Given the description of an element on the screen output the (x, y) to click on. 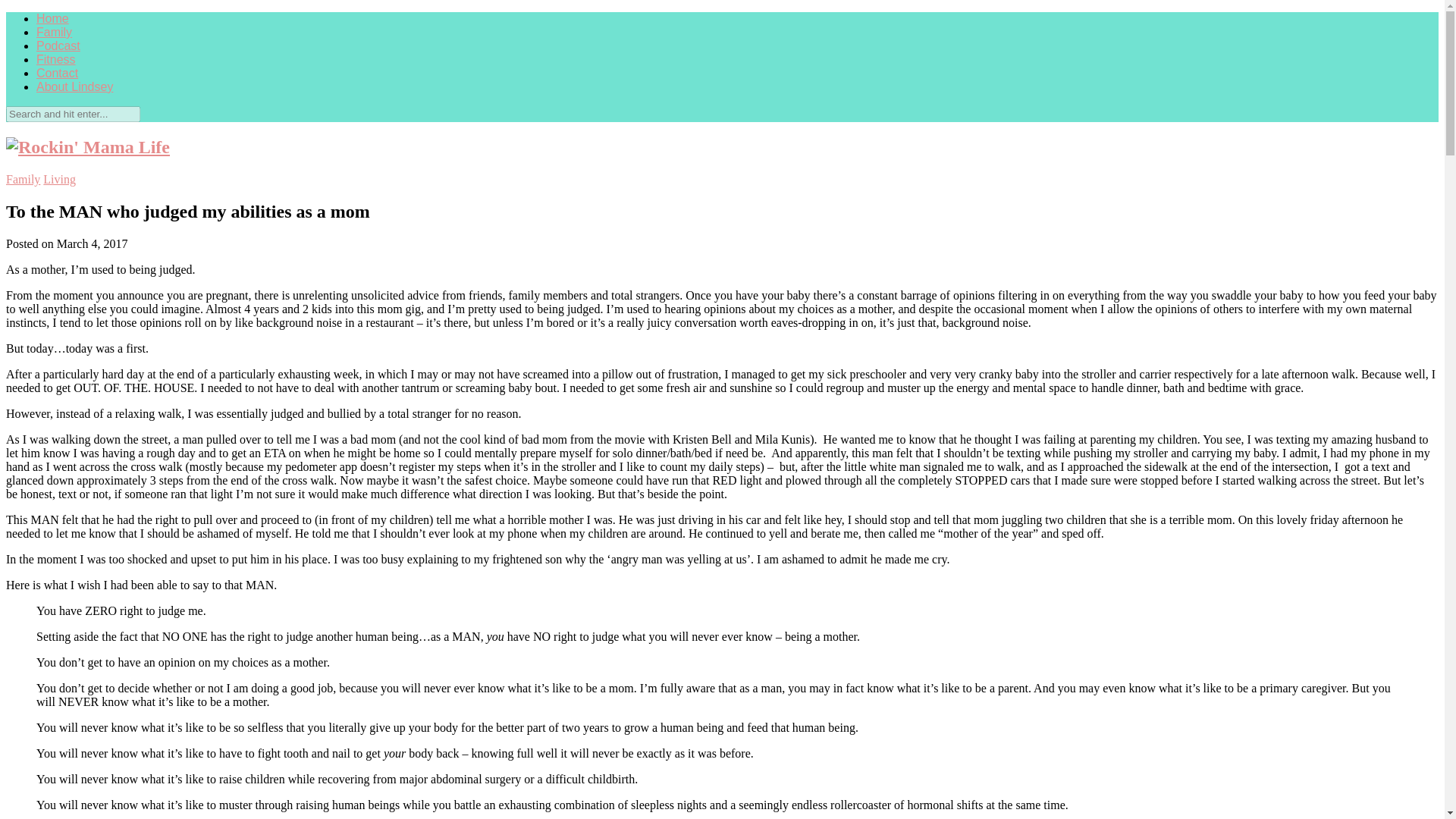
Family (22, 178)
Home (52, 18)
About Lindsey (74, 86)
Living (59, 178)
Fitness (55, 59)
Family (53, 31)
Contact (57, 72)
Podcast (58, 45)
